Given the description of an element on the screen output the (x, y) to click on. 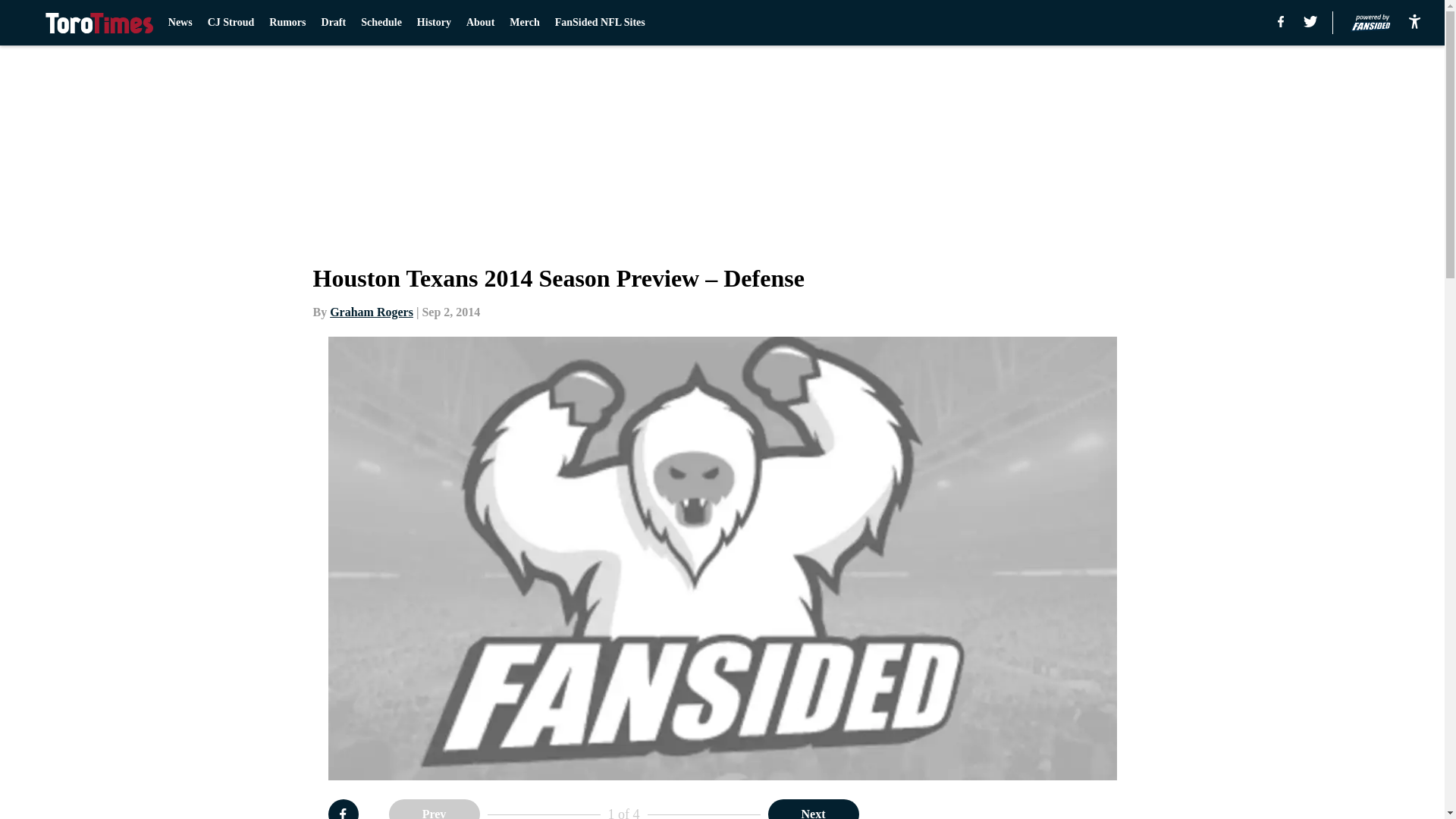
Next (813, 809)
FanSided NFL Sites (599, 22)
About (480, 22)
Schedule (381, 22)
News (180, 22)
History (433, 22)
Prev (433, 809)
Merch (523, 22)
CJ Stroud (231, 22)
Draft (333, 22)
Rumors (287, 22)
Graham Rogers (371, 311)
